Given the description of an element on the screen output the (x, y) to click on. 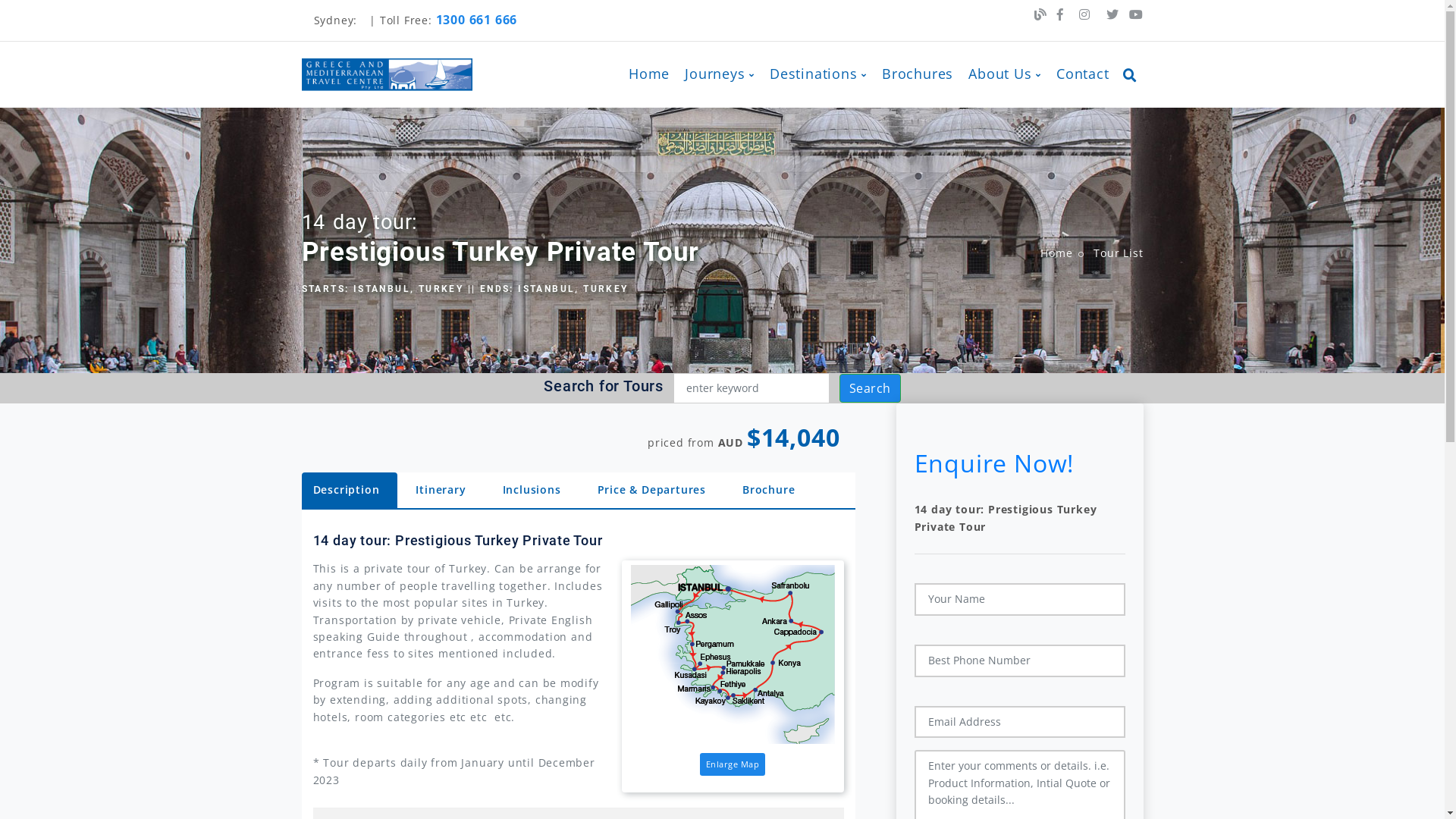
About Us Element type: text (1004, 73)
Description Element type: text (349, 489)
Home Element type: text (649, 73)
Brochure Element type: text (768, 489)
Search Element type: text (869, 387)
1300 661 666 Element type: text (476, 19)
Inclusions Element type: text (531, 489)
Contact Element type: text (1078, 73)
Price & Departures Element type: text (651, 489)
Tour List Element type: text (1117, 252)
Brochures Element type: text (917, 73)
Enlarge Map Element type: text (732, 764)
Destinations Element type: text (818, 73)
Itinerary Element type: text (440, 489)
Home Element type: text (1056, 252)
Journeys Element type: text (719, 73)
